Given the description of an element on the screen output the (x, y) to click on. 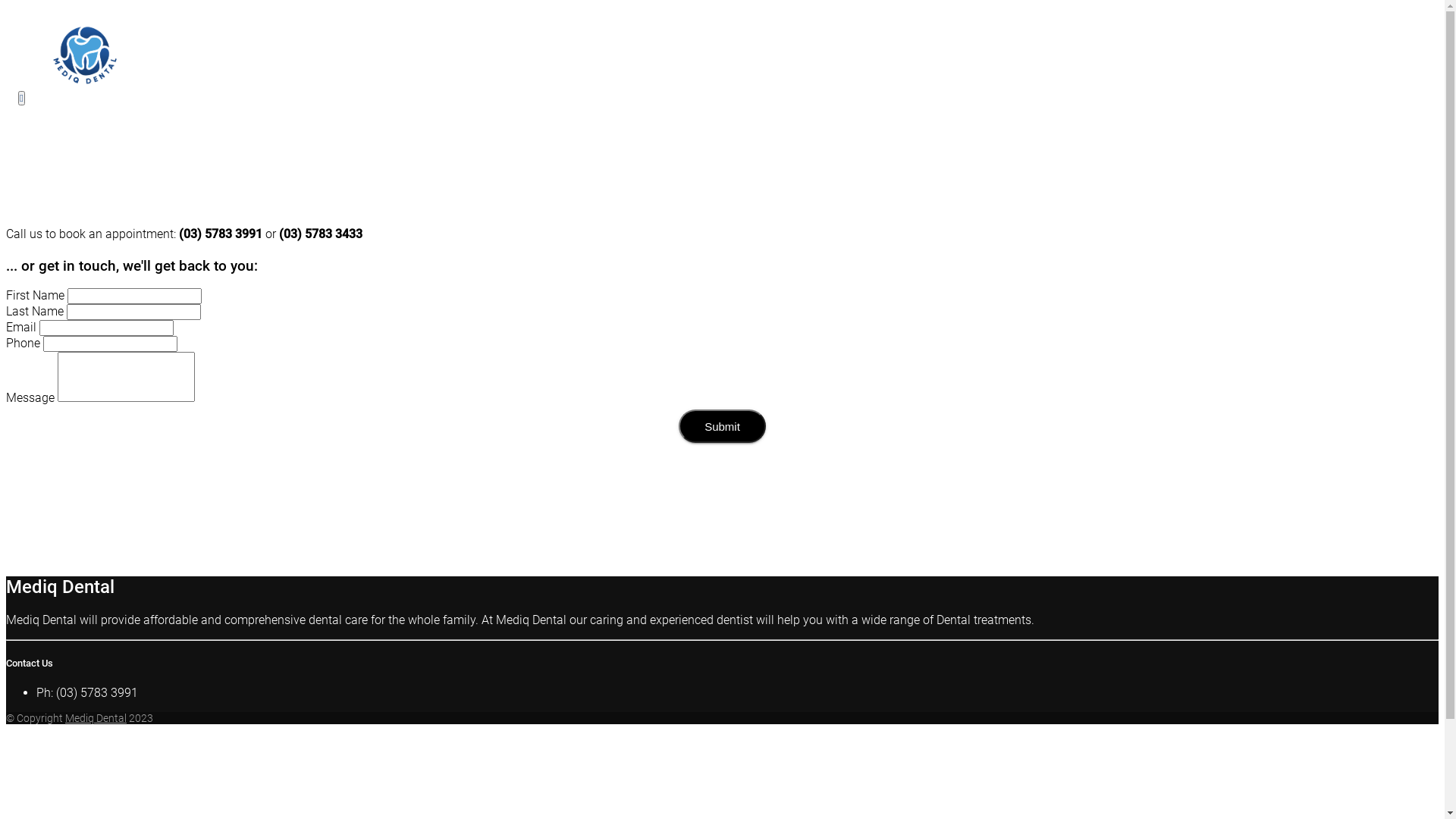
Mediq Dental Element type: text (95, 718)
Submit Element type: text (721, 425)
Ph: (03) 5783 3991 Element type: text (87, 692)
Contact Us Element type: text (737, 148)
Services Element type: text (737, 134)
Home Element type: text (737, 119)
